Given the description of an element on the screen output the (x, y) to click on. 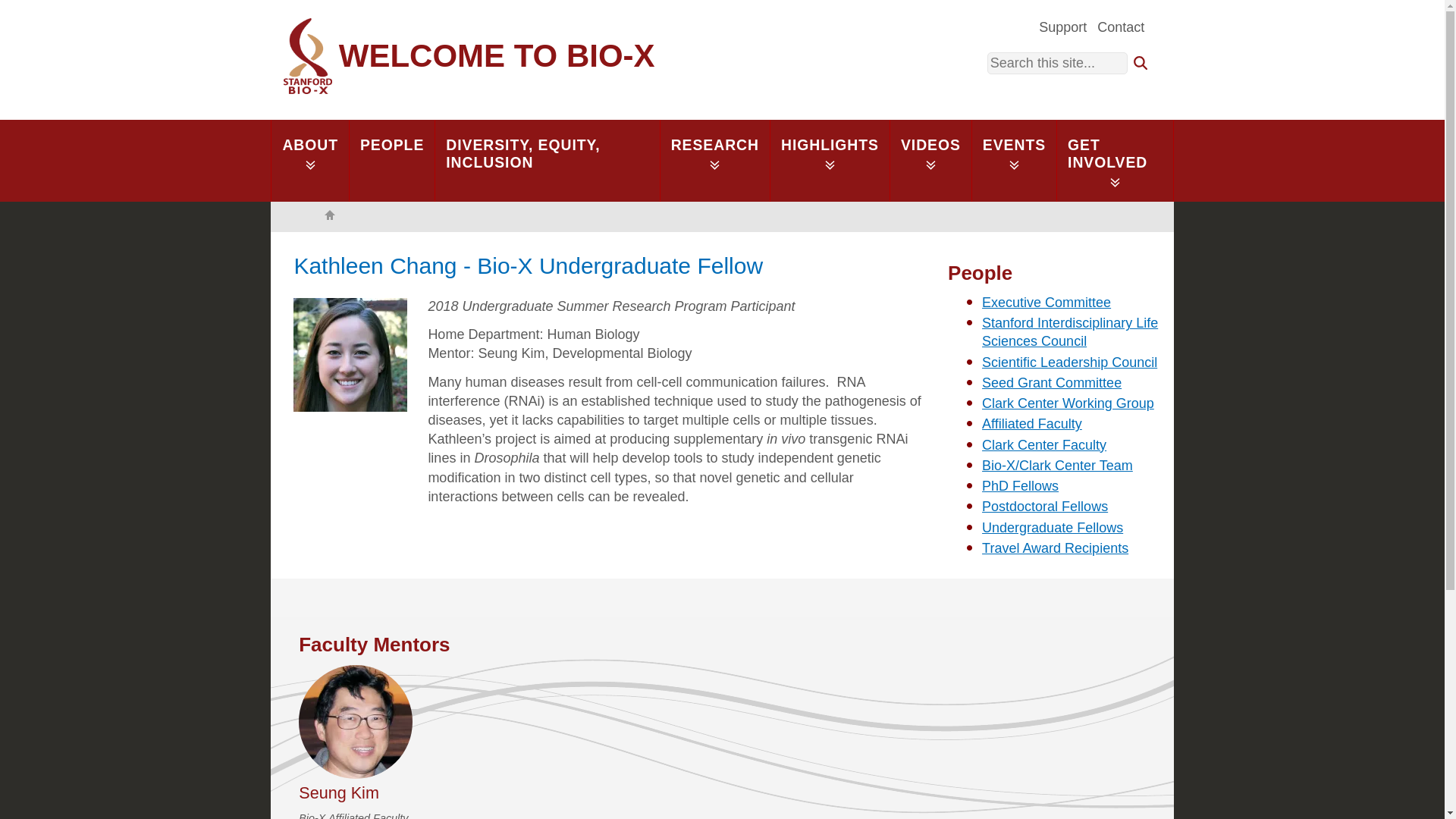
HIGHLIGHTS (829, 160)
Enter the keywords you wish to search for. (1056, 63)
PEOPLE (392, 160)
Contact (1121, 26)
Search (1140, 63)
WELCOME TO BIO-X (468, 56)
ABOUT (309, 160)
RESEARCH (714, 160)
Search (1140, 63)
Support (1062, 26)
DIVERSITY, EQUITY, INCLUSION (546, 160)
Home (468, 56)
